Given the description of an element on the screen output the (x, y) to click on. 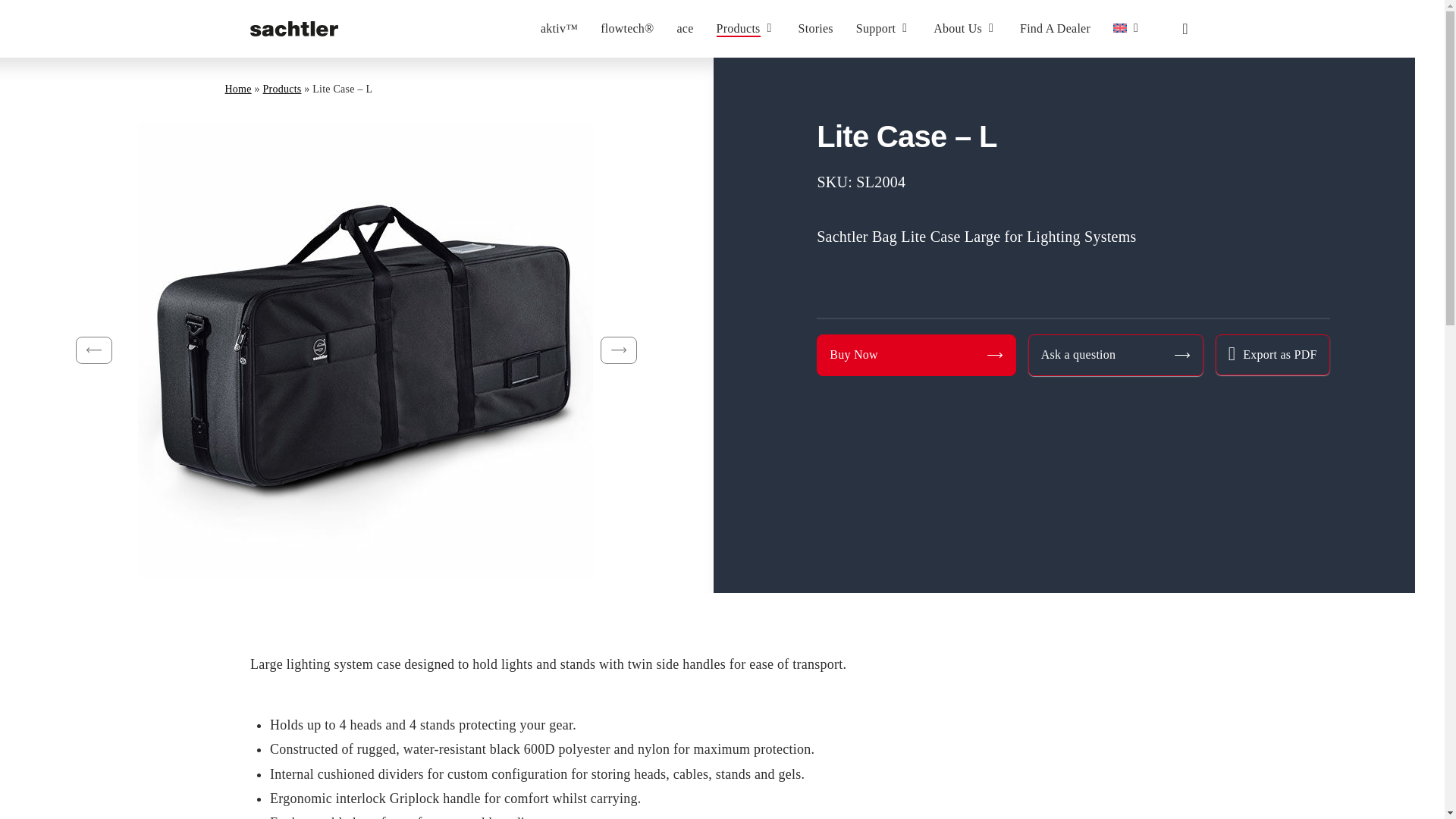
Products (746, 28)
ace (685, 28)
